Given the description of an element on the screen output the (x, y) to click on. 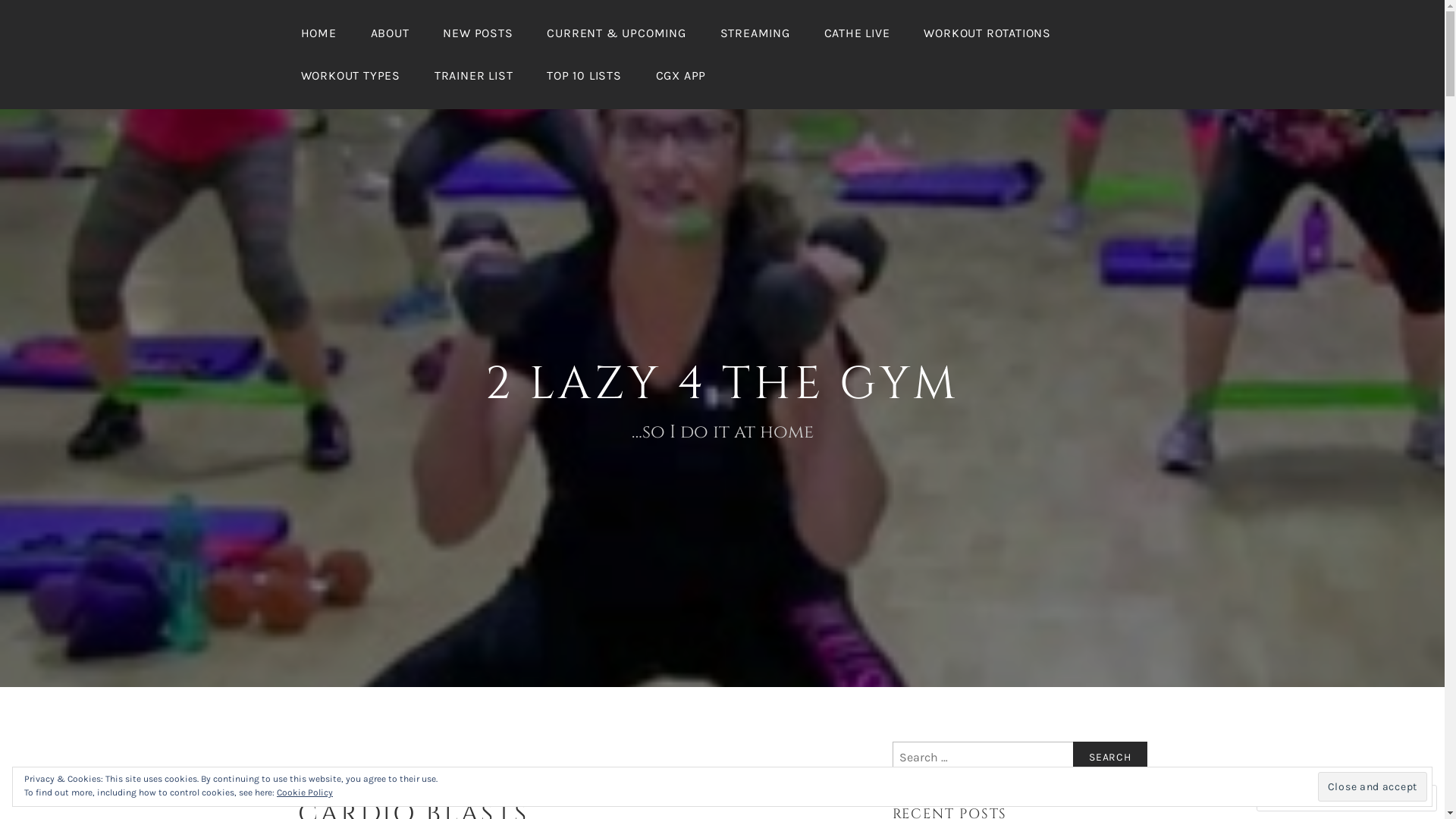
CATHE LIVE Element type: text (857, 33)
HOME Element type: text (318, 33)
Cookie Policy Element type: text (304, 793)
Search Element type: text (1109, 757)
Close and accept Element type: text (1372, 786)
STREAMING Element type: text (755, 33)
TOP 10 LISTS Element type: text (584, 75)
TRAINER LIST Element type: text (473, 75)
NEW POSTS Element type: text (477, 33)
2 LAZY 4 THE GYM Element type: text (722, 383)
ABOUT Element type: text (389, 33)
WORKOUT ROTATIONS Element type: text (987, 33)
Follow Element type: text (1373, 797)
CURRENT & UPCOMING Element type: text (615, 33)
Comment Element type: text (1297, 797)
WORKOUT TYPES Element type: text (349, 75)
CGX APP Element type: text (680, 75)
